Given the description of an element on the screen output the (x, y) to click on. 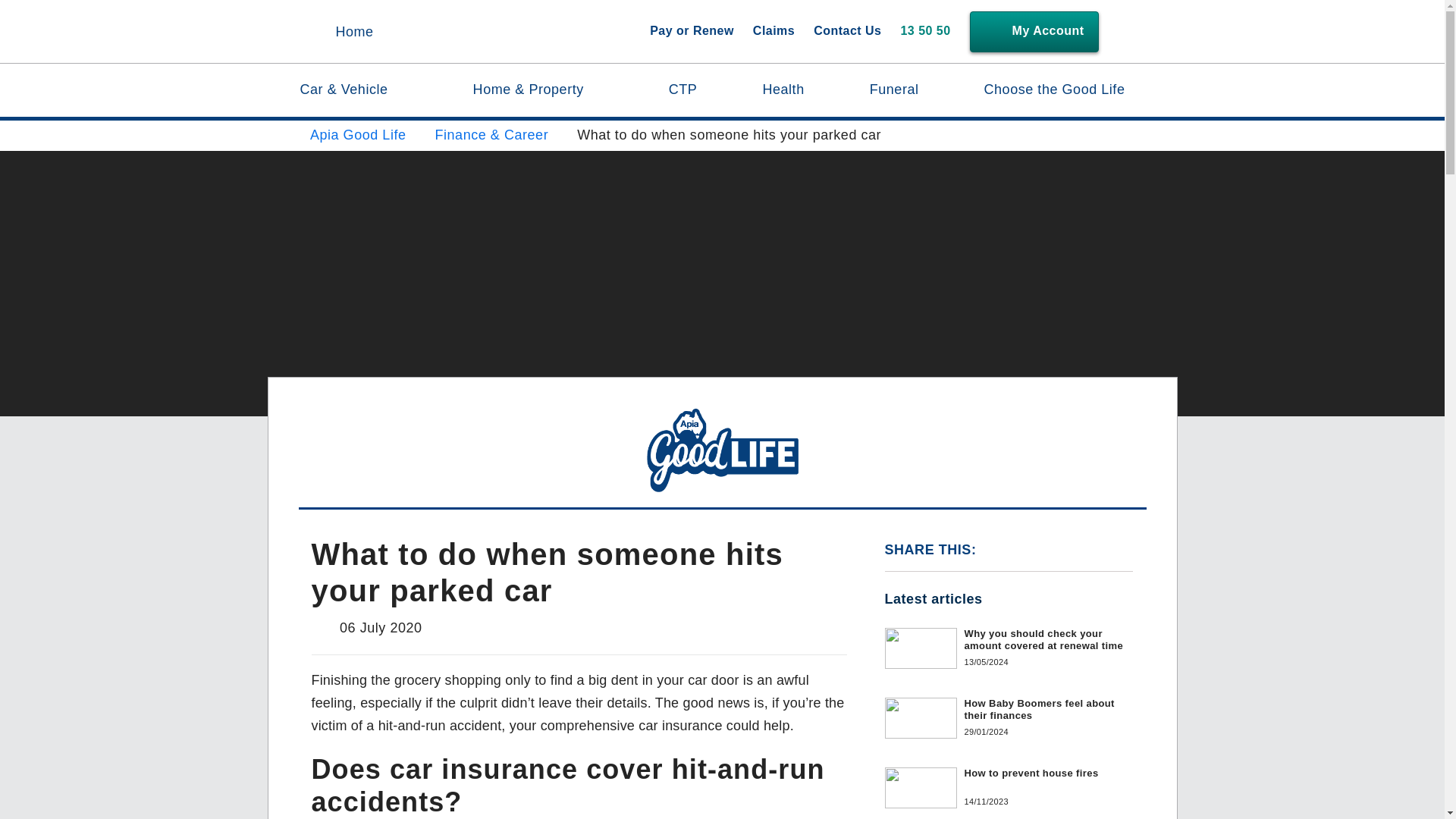
My Account (1034, 30)
Contact Us (846, 31)
Claims (773, 31)
Pay or Renew (691, 31)
Home (353, 32)
13 50 50 (924, 31)
Home (353, 32)
